Given the description of an element on the screen output the (x, y) to click on. 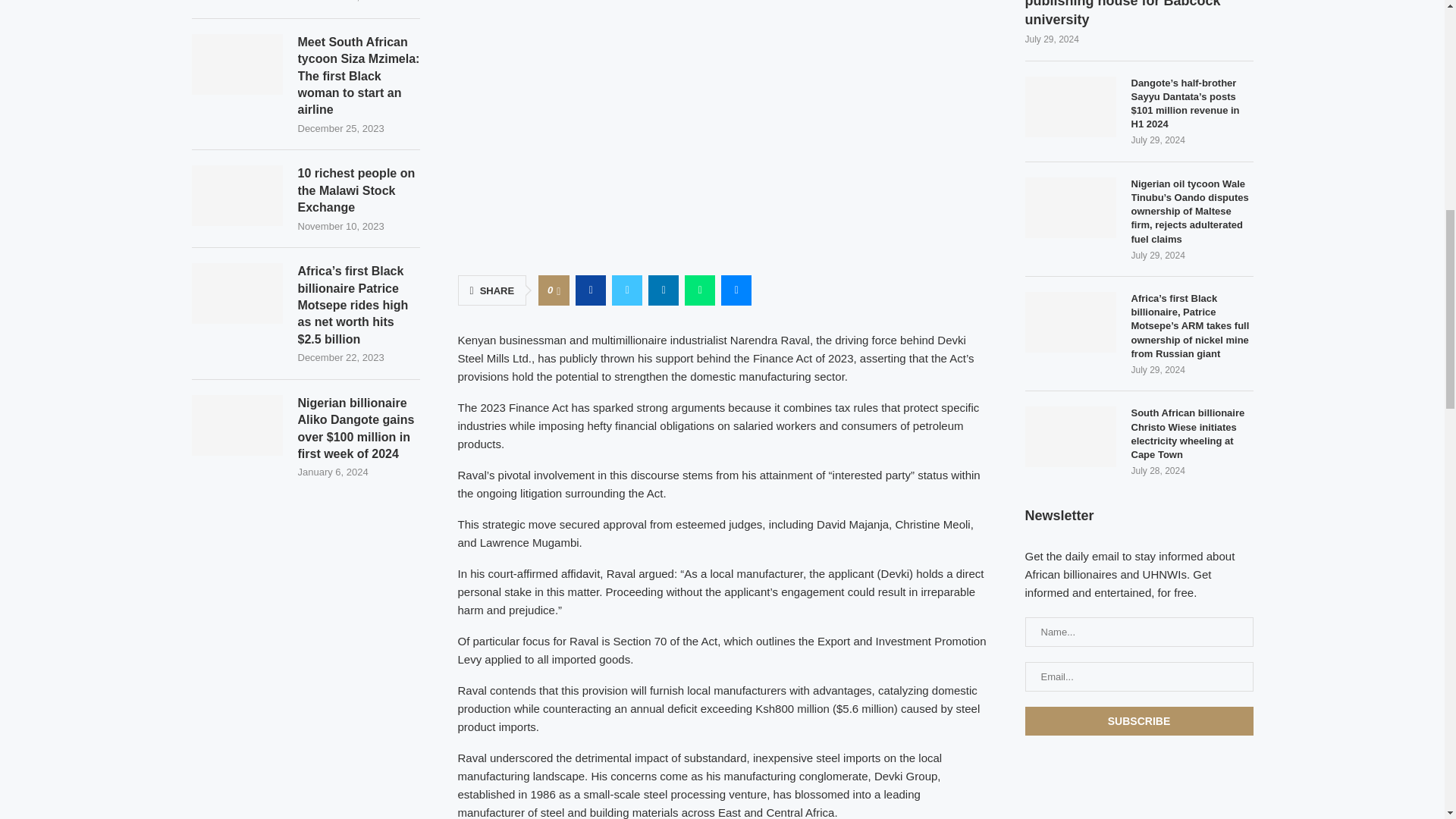
Subscribe (1139, 720)
